Given the description of an element on the screen output the (x, y) to click on. 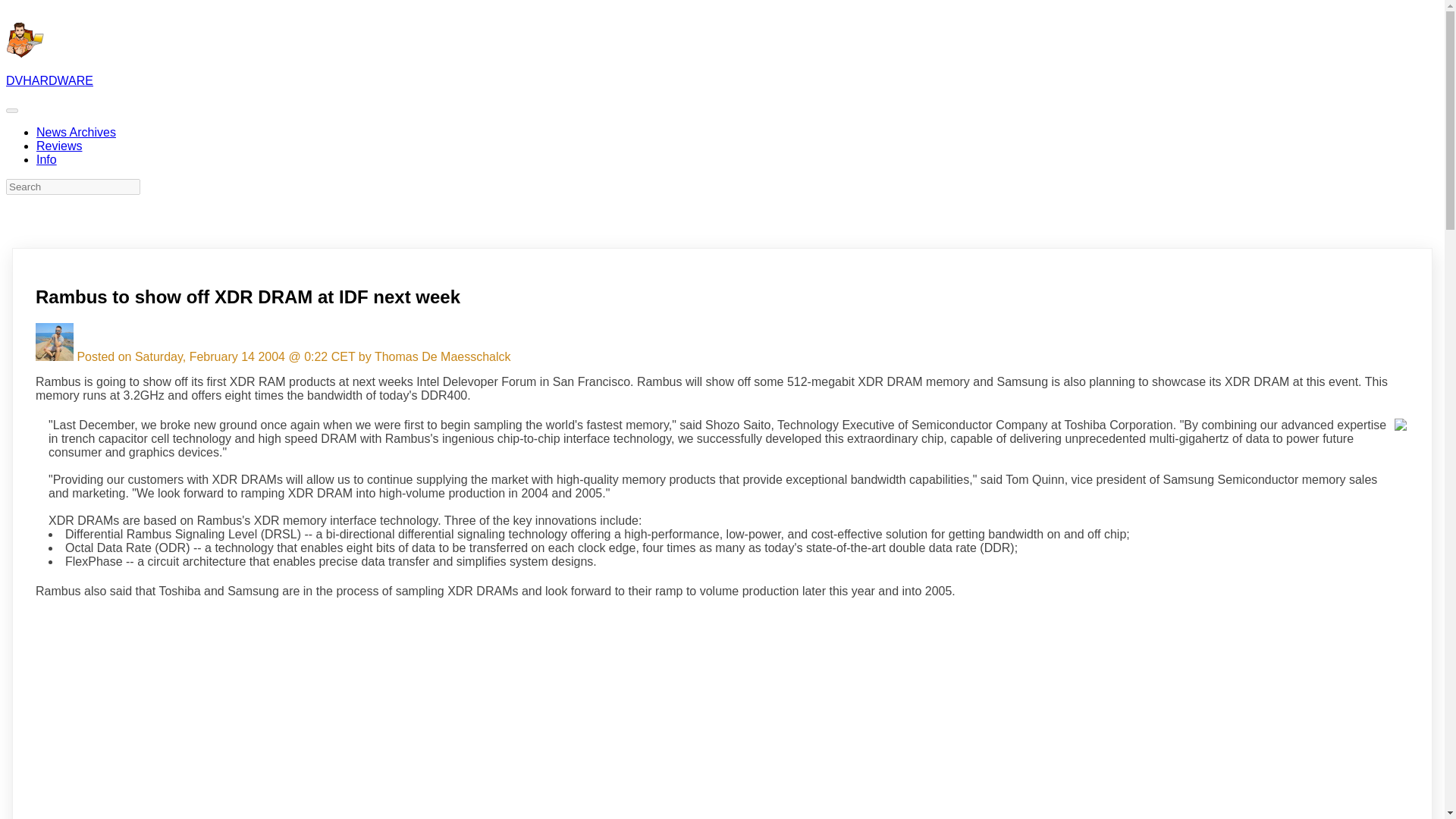
DVHARDWARE (49, 80)
Info (46, 159)
Reviews (58, 145)
News Archives (76, 132)
